Given the description of an element on the screen output the (x, y) to click on. 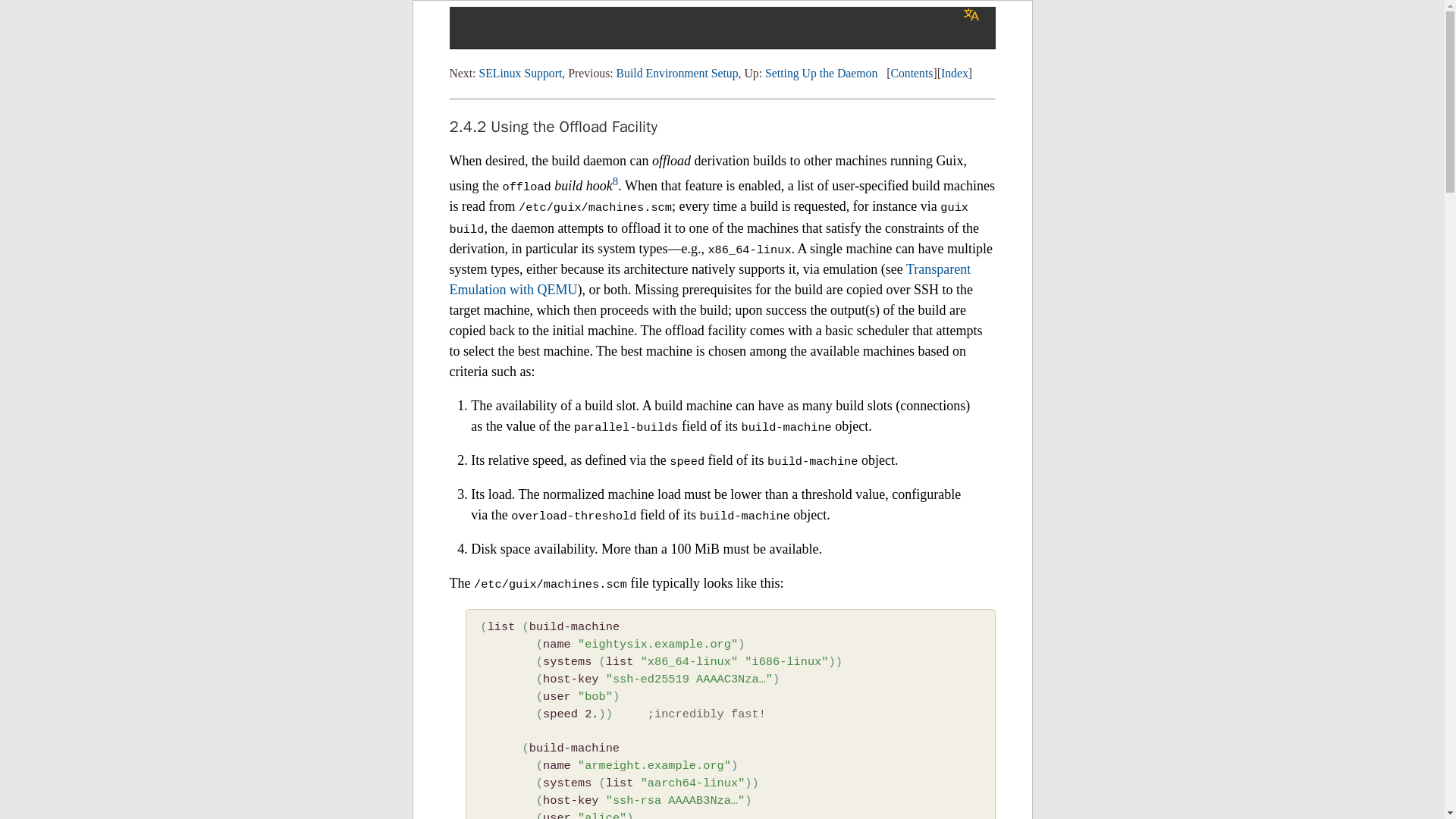
SELinux Support (520, 72)
list (501, 626)
